Given the description of an element on the screen output the (x, y) to click on. 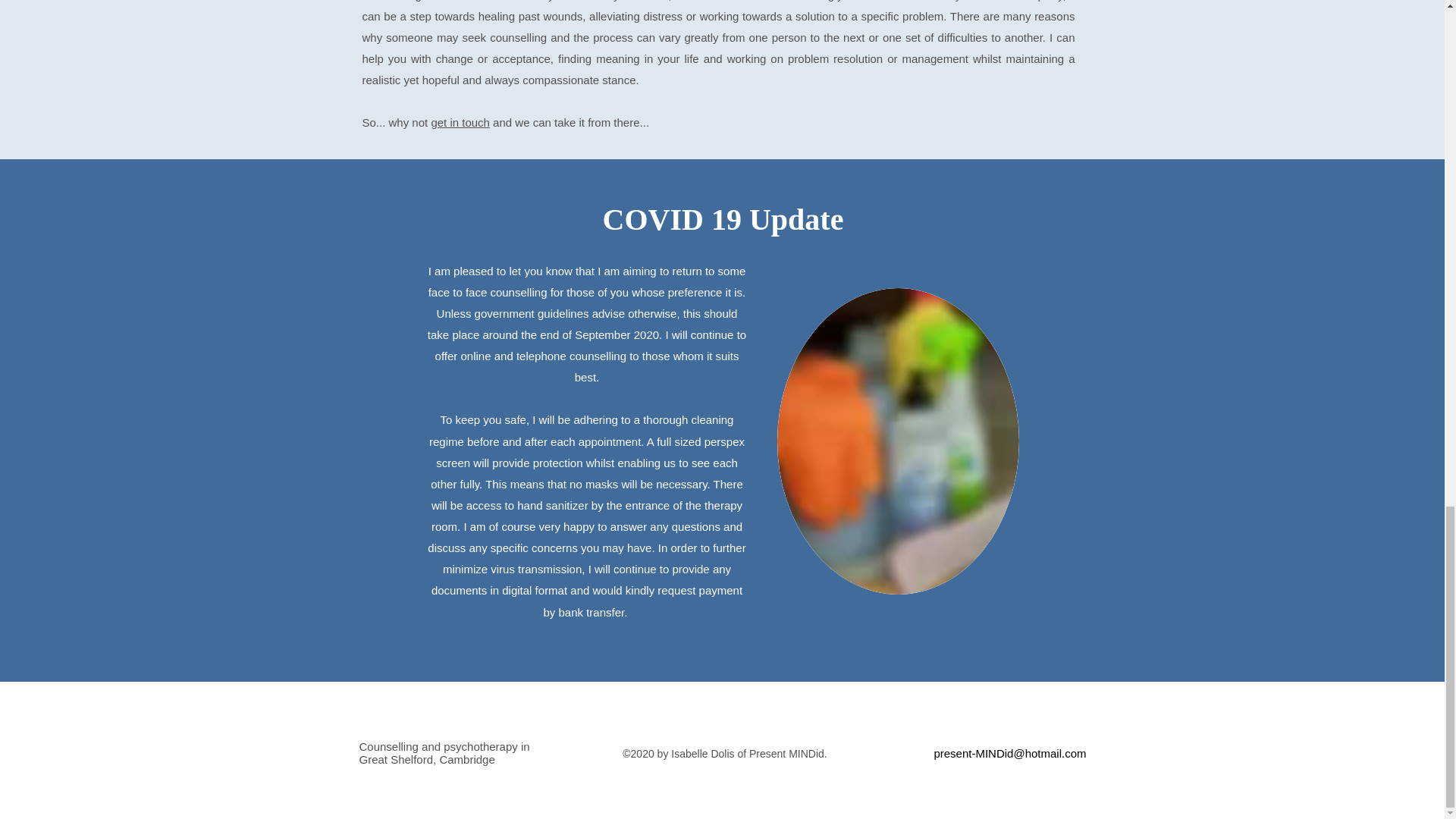
get in touch (459, 122)
